Given the description of an element on the screen output the (x, y) to click on. 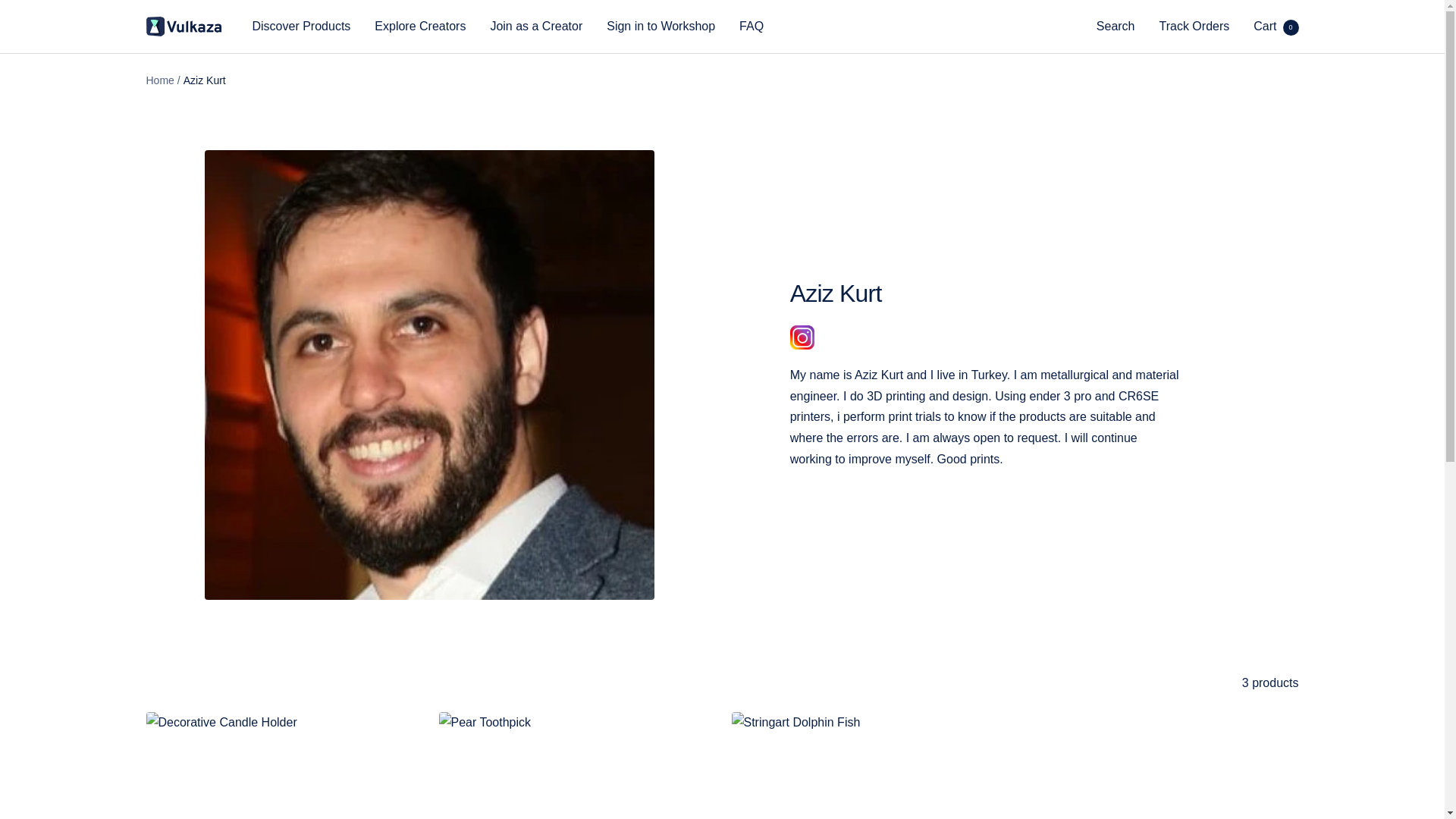
Track Orders (1194, 25)
Sign in to Workshop (660, 25)
Search (1115, 25)
Vulkaza (183, 26)
Discover Products (1275, 25)
Join as a Creator (300, 25)
FAQ (535, 25)
Explore Creators (750, 25)
Home (419, 25)
